Given the description of an element on the screen output the (x, y) to click on. 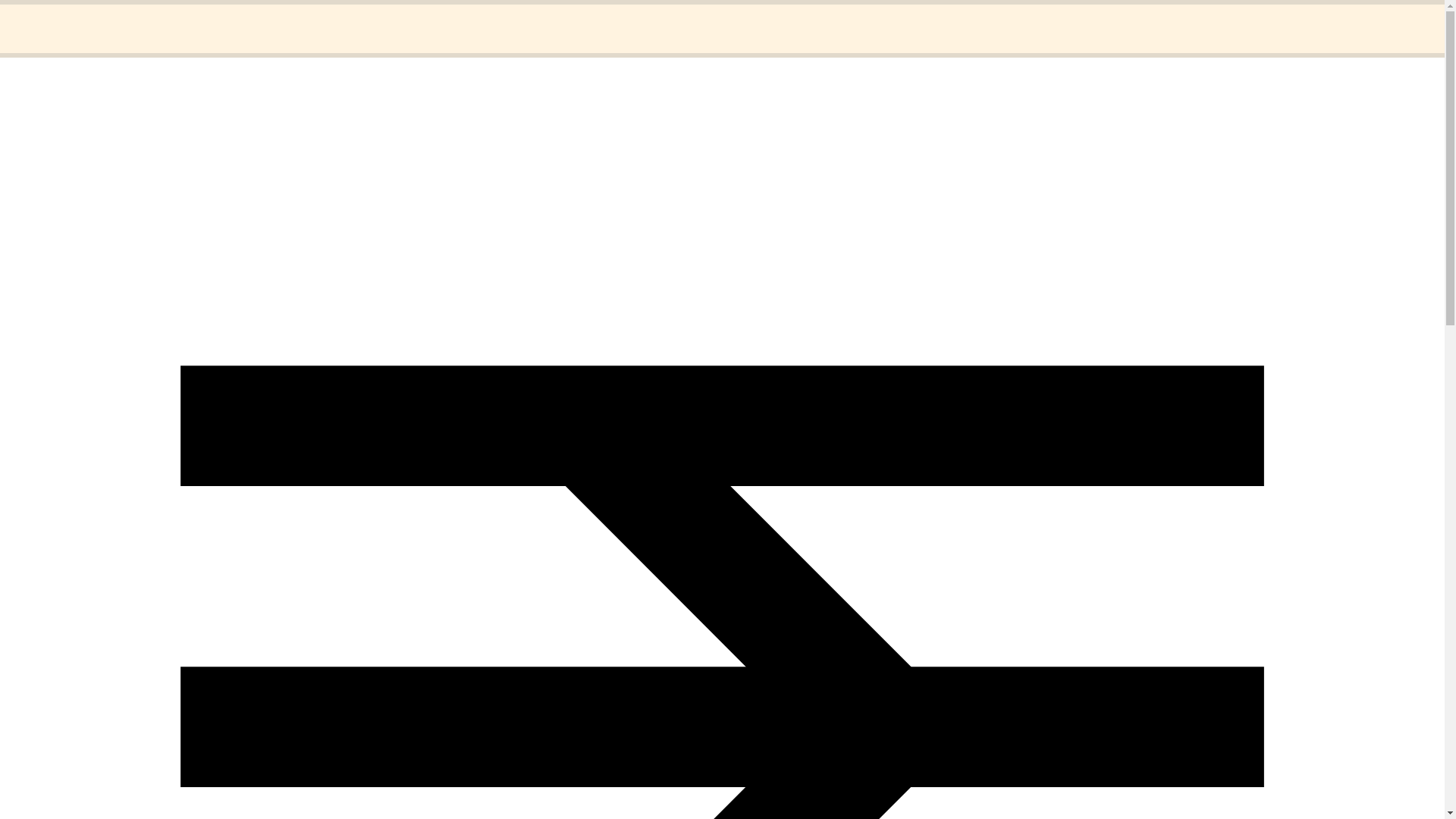
Home (50, 18)
